Given the description of an element on the screen output the (x, y) to click on. 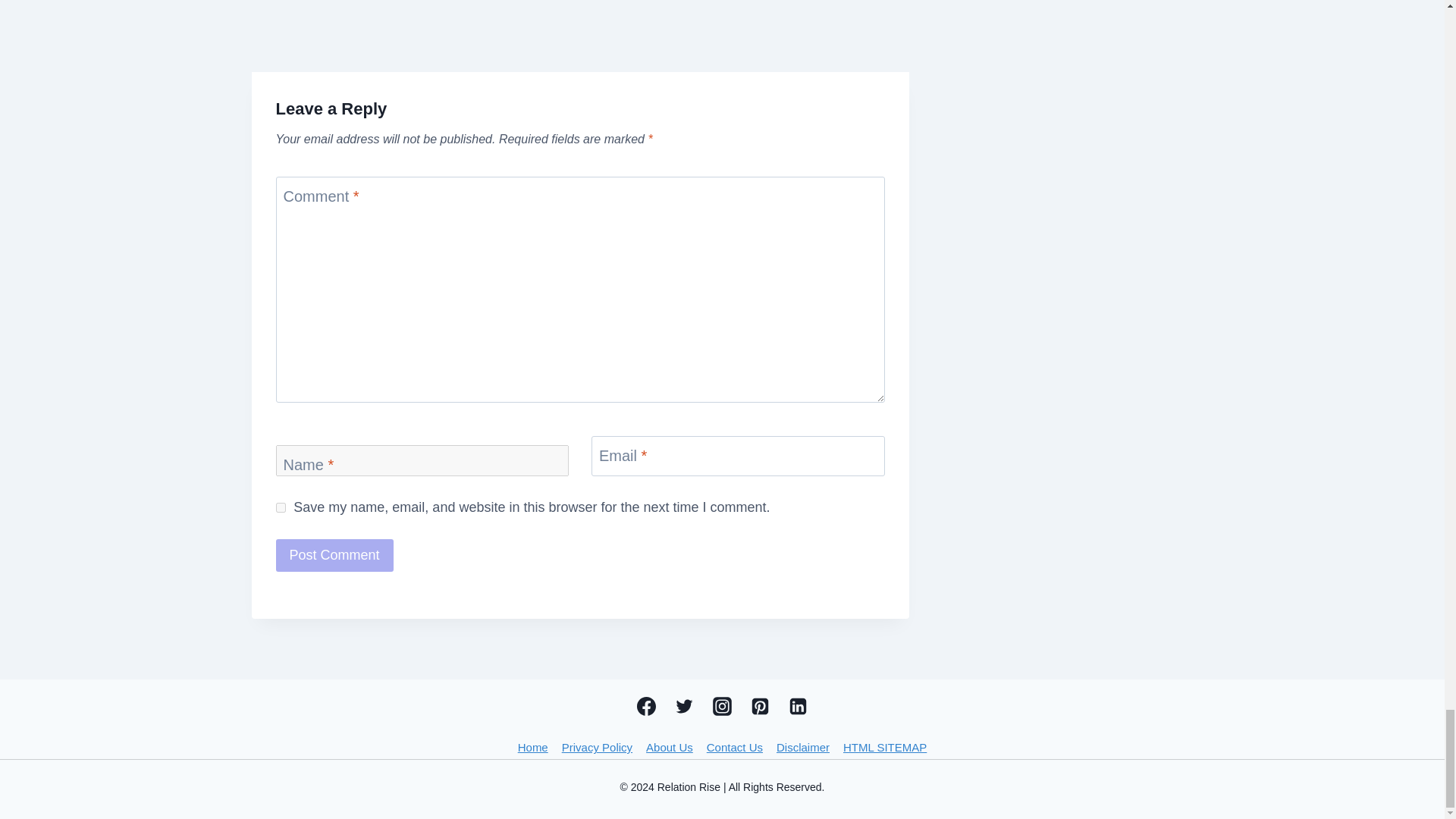
Post Comment (334, 554)
yes (280, 507)
